Given the description of an element on the screen output the (x, y) to click on. 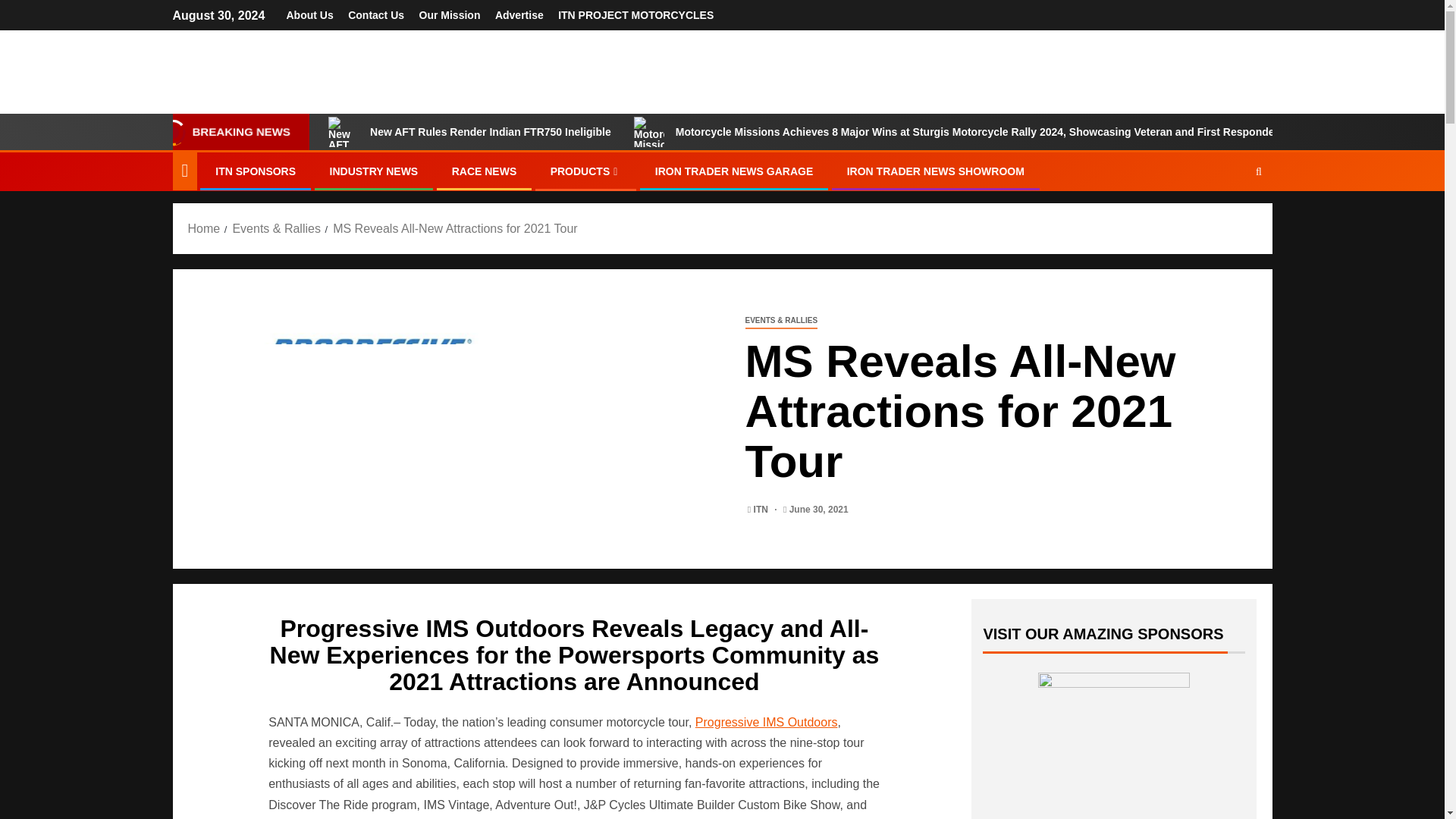
IRON TRADER NEWS GARAGE (733, 171)
MS Reveals All-New Attractions for 2021 Tour (455, 228)
Advertise (519, 15)
Contact Us (375, 15)
About Us (309, 15)
RACE NEWS (483, 171)
ITN SPONSORS (255, 171)
IRON TRADER NEWS SHOWROOM (936, 171)
Search (1229, 217)
Progressive IMS Outdoors (766, 721)
